Given the description of an element on the screen output the (x, y) to click on. 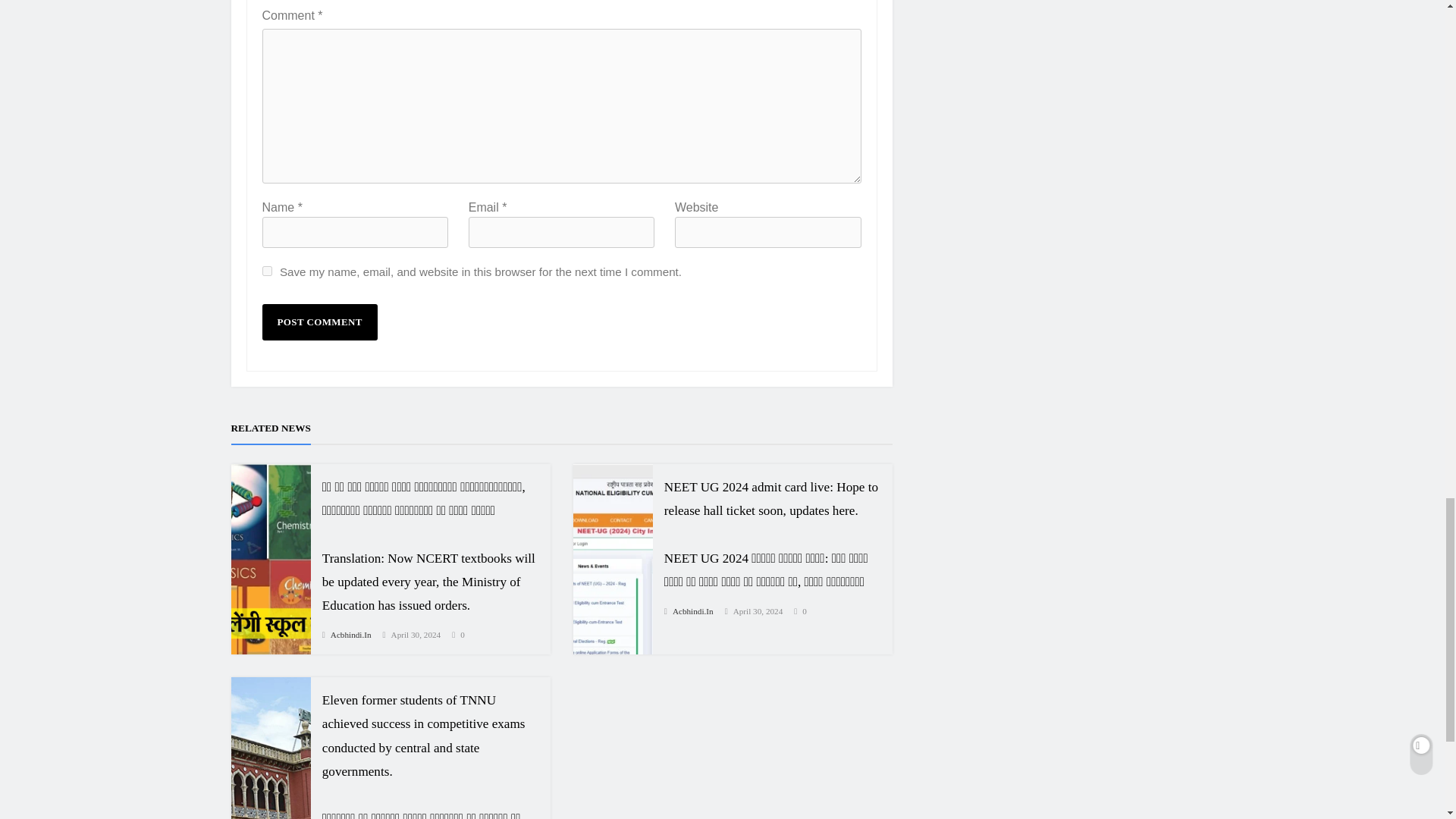
yes (267, 271)
Post Comment (319, 321)
